Given the description of an element on the screen output the (x, y) to click on. 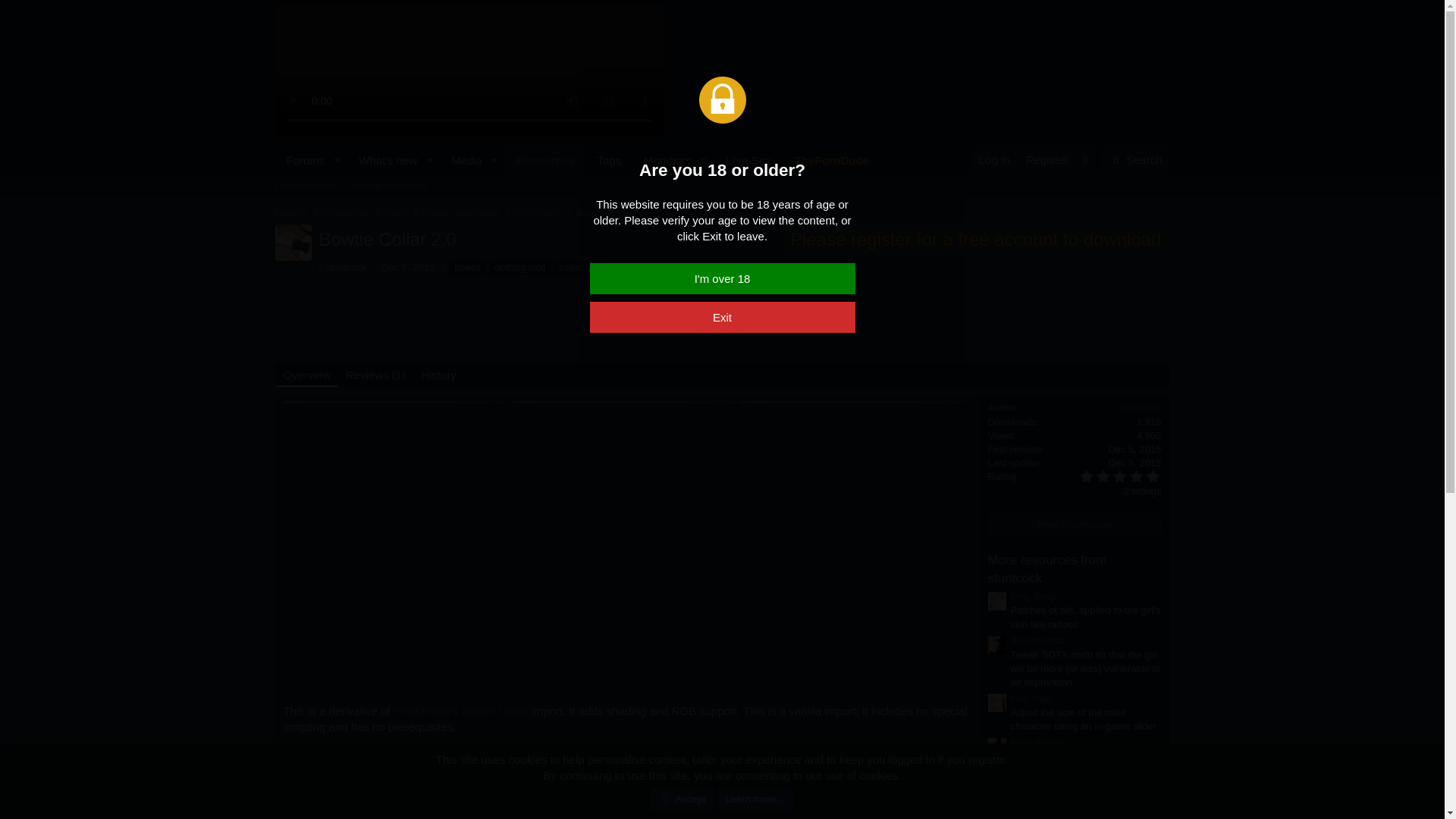
What's new (383, 160)
Register (1046, 159)
Latest reviews (305, 185)
ThePornDude (831, 160)
Search (1135, 159)
Log in (994, 159)
Forums (300, 160)
Dec 5, 2015 at 3:18 AM (1134, 462)
Tags (609, 160)
